Given the description of an element on the screen output the (x, y) to click on. 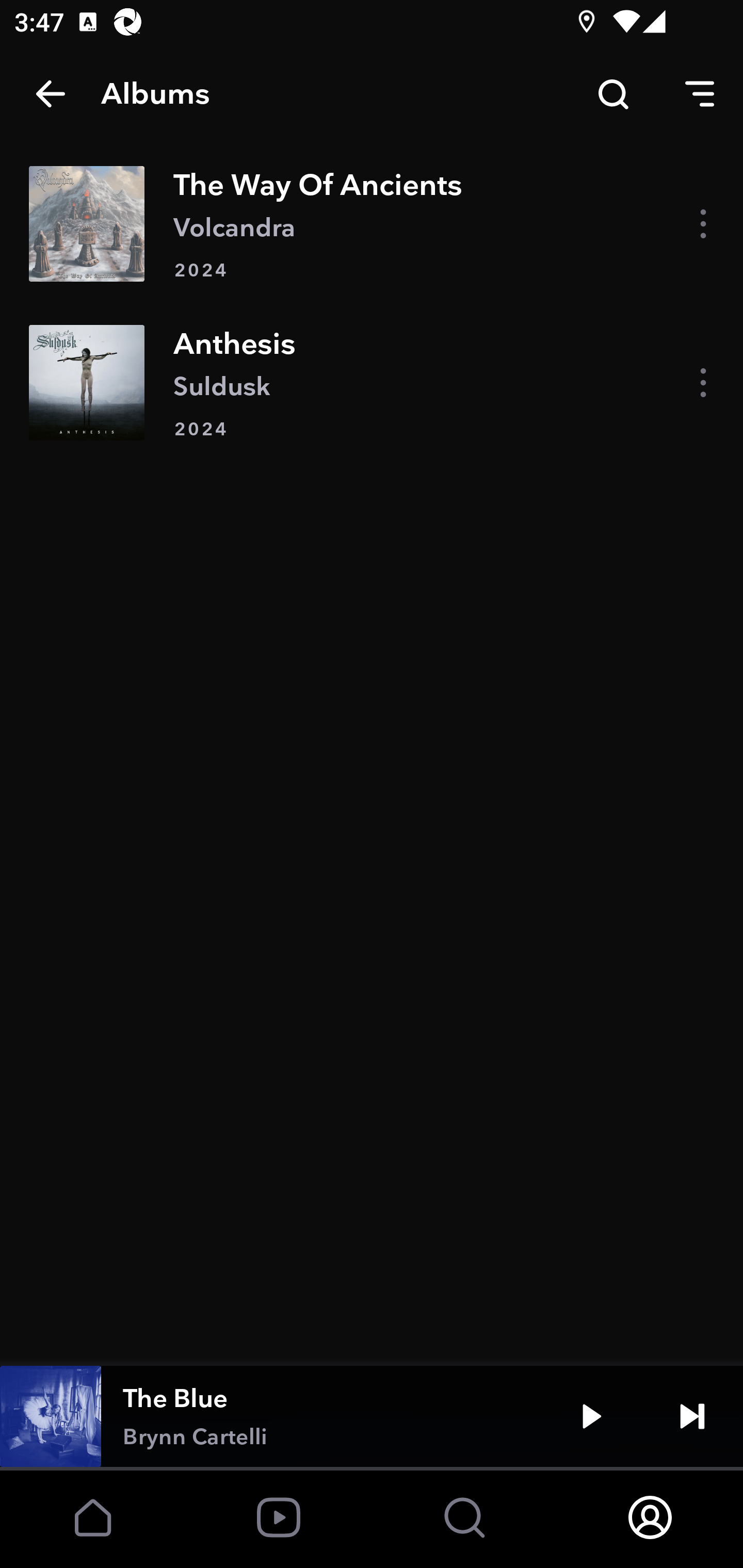
Back (50, 93)
Search (612, 93)
Sorting (699, 93)
The Way Of Ancients Volcandra 2024 (371, 223)
Anthesis Suldusk 2024 (371, 382)
The Blue Brynn Cartelli Play (371, 1416)
Play (590, 1416)
